Given the description of an element on the screen output the (x, y) to click on. 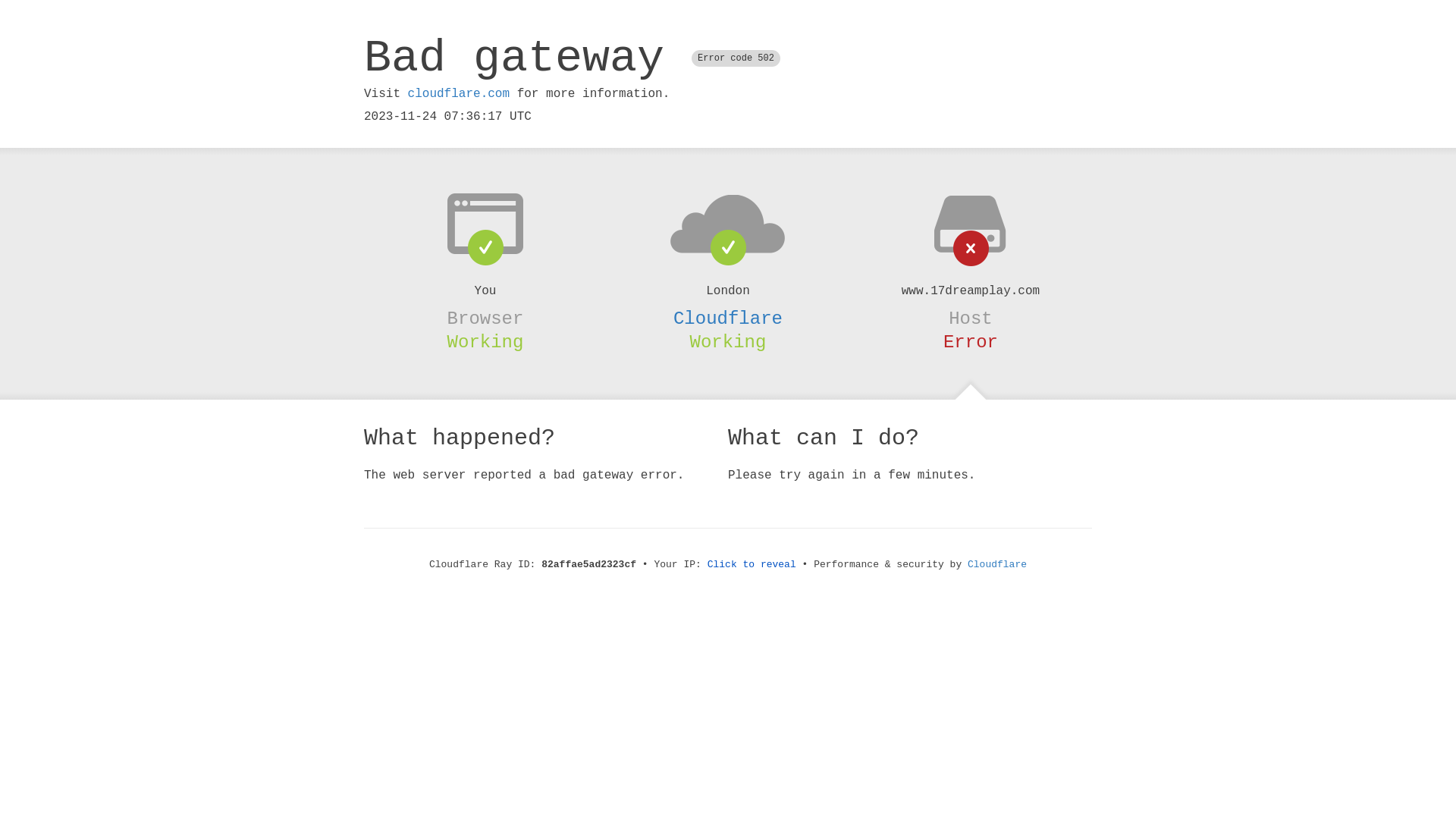
cloudflare.com Element type: text (458, 93)
Cloudflare Element type: text (727, 318)
Cloudflare Element type: text (996, 564)
Click to reveal Element type: text (751, 564)
